Given the description of an element on the screen output the (x, y) to click on. 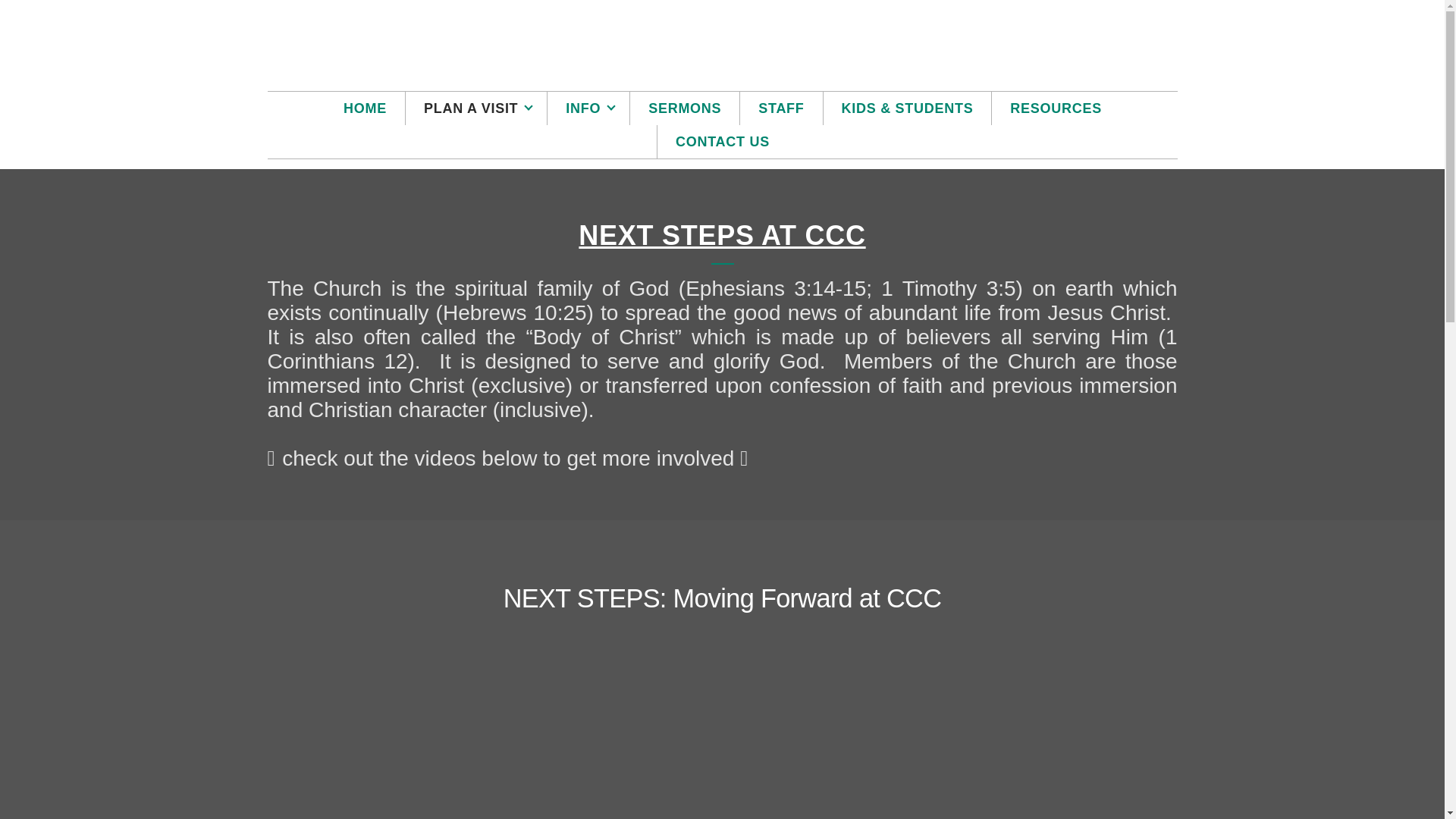
CONTACT US (722, 141)
PLAN A VISIT (476, 108)
RESOURCES (1055, 108)
STAFF (780, 108)
HOME (364, 108)
INFO (587, 108)
SERMONS (684, 108)
